Given the description of an element on the screen output the (x, y) to click on. 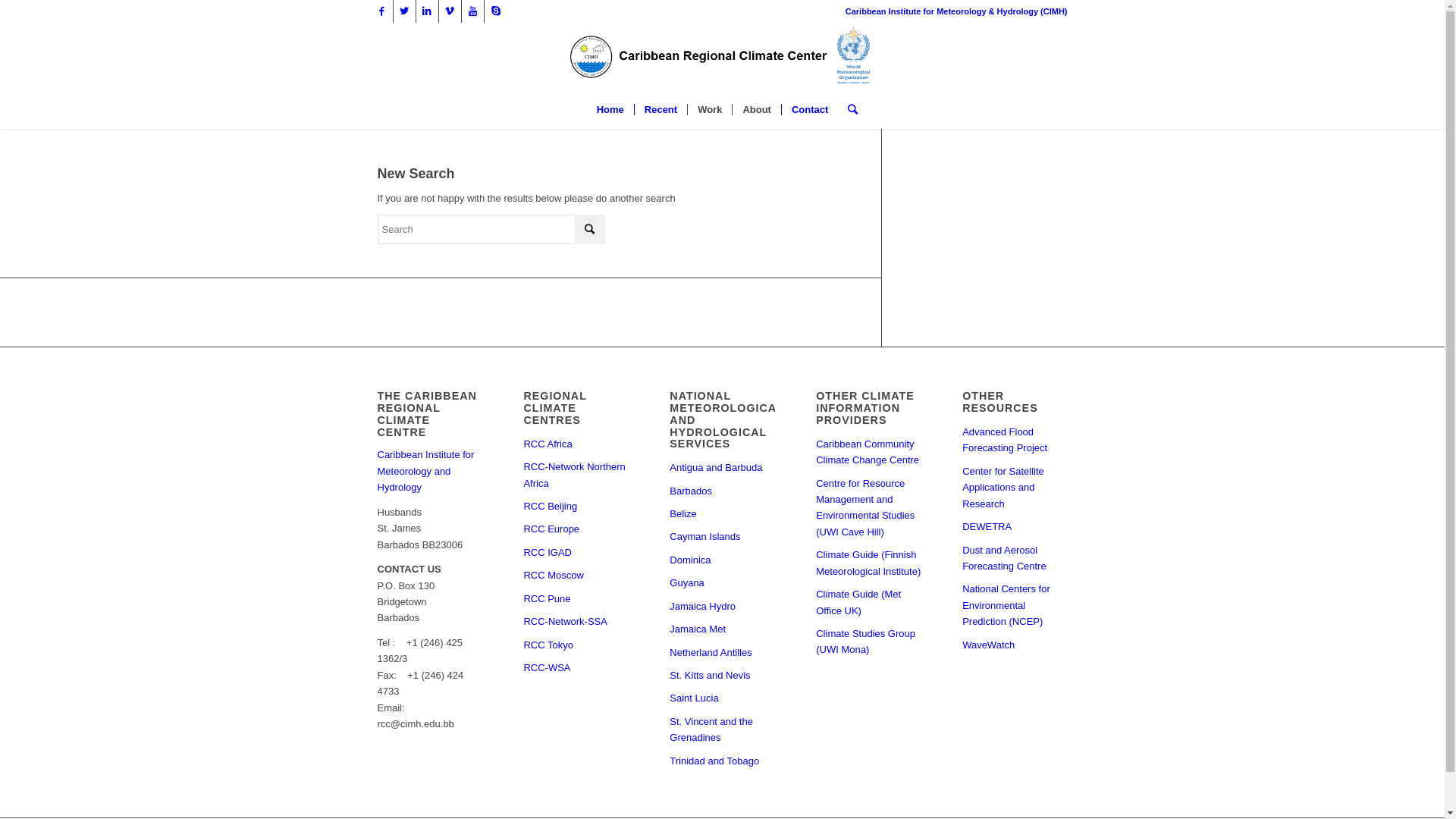
RCC Beijing Element type: text (575, 506)
Climate Guide (Met Office UK) Element type: text (867, 602)
National Centers for Environmental Prediction (NCEP) Element type: text (1014, 605)
Netherland Antilles Element type: text (721, 652)
Dust and Aerosol Forecasting Centre Element type: text (1014, 558)
RCC Moscow Element type: text (575, 575)
RCC Pune Element type: text (575, 598)
Belize Element type: text (721, 513)
Barbados Element type: text (721, 490)
Cayman Islands Element type: text (721, 536)
Youtube Element type: hover (472, 11)
Contact Element type: text (809, 109)
Climate Studies Group (UWI Mona) Element type: text (867, 642)
RCC Tokyo Element type: text (575, 644)
Guyana Element type: text (721, 582)
Work Element type: text (709, 109)
Trinidad and Tobago Element type: text (721, 760)
St. Vincent and the Grenadines Element type: text (721, 729)
WaveWatch Element type: text (1014, 644)
Jamaica Hydro Element type: text (721, 606)
RCC IGAD Element type: text (575, 552)
Caribbean Community Climate Change Centre Element type: text (867, 452)
RCC Europe Element type: text (575, 528)
About Element type: text (756, 109)
Caribbean Institute for Meteorology and Hydrology Element type: text (425, 470)
RCC-Network-SSA Element type: text (575, 621)
RCC-Network Northern Africa Element type: text (575, 475)
St. Kitts and Nevis Element type: text (721, 675)
Facebook Element type: hover (381, 11)
Recent Element type: text (660, 109)
Skype Element type: hover (494, 11)
Antigua and Barbuda Element type: text (721, 467)
Linkedin Element type: hover (426, 11)
Vimeo Element type: hover (449, 11)
Center for Satellite Applications and Research Element type: text (1014, 487)
RCC-WSA Element type: text (575, 667)
Dominica Element type: text (721, 560)
RCC Africa Element type: text (575, 444)
DEWETRA Element type: text (1014, 526)
Climate Guide (Finnish Meteorological Institute) Element type: text (867, 563)
Saint Lucia Element type: text (721, 698)
Caribbean Institute for Meteorology & Hydrology (CIMH) Element type: text (956, 11)
Jamaica Met Element type: text (721, 629)
Home Element type: text (609, 109)
Advanced Flood Forecasting Project Element type: text (1014, 440)
Twitter Element type: hover (403, 11)
